Given the description of an element on the screen output the (x, y) to click on. 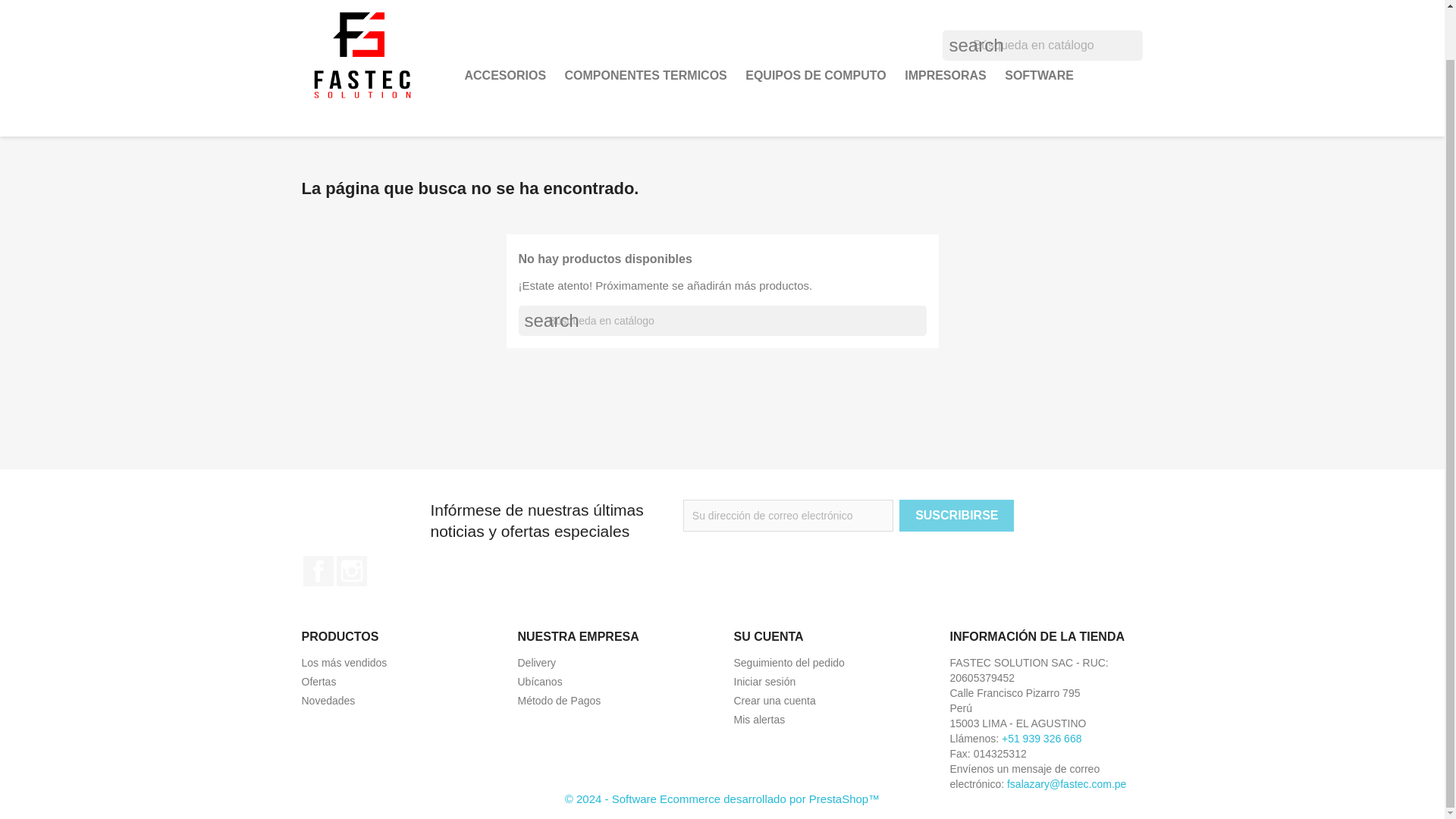
Delivery (536, 662)
Acceda a su cuenta de cliente (764, 681)
Ofertas (318, 681)
Crear una cuenta (774, 700)
EQUIPOS DE COMPUTO (815, 75)
Mis alertas (759, 719)
Suscribirse (956, 515)
Facebook (317, 571)
Novedades (328, 700)
COMPONENTES TERMICOS (646, 75)
SOFTWARE (1039, 75)
Novedades (328, 700)
Seguimiento del pedido (788, 662)
Suscribirse (956, 515)
ACCESORIOS (505, 75)
